Given the description of an element on the screen output the (x, y) to click on. 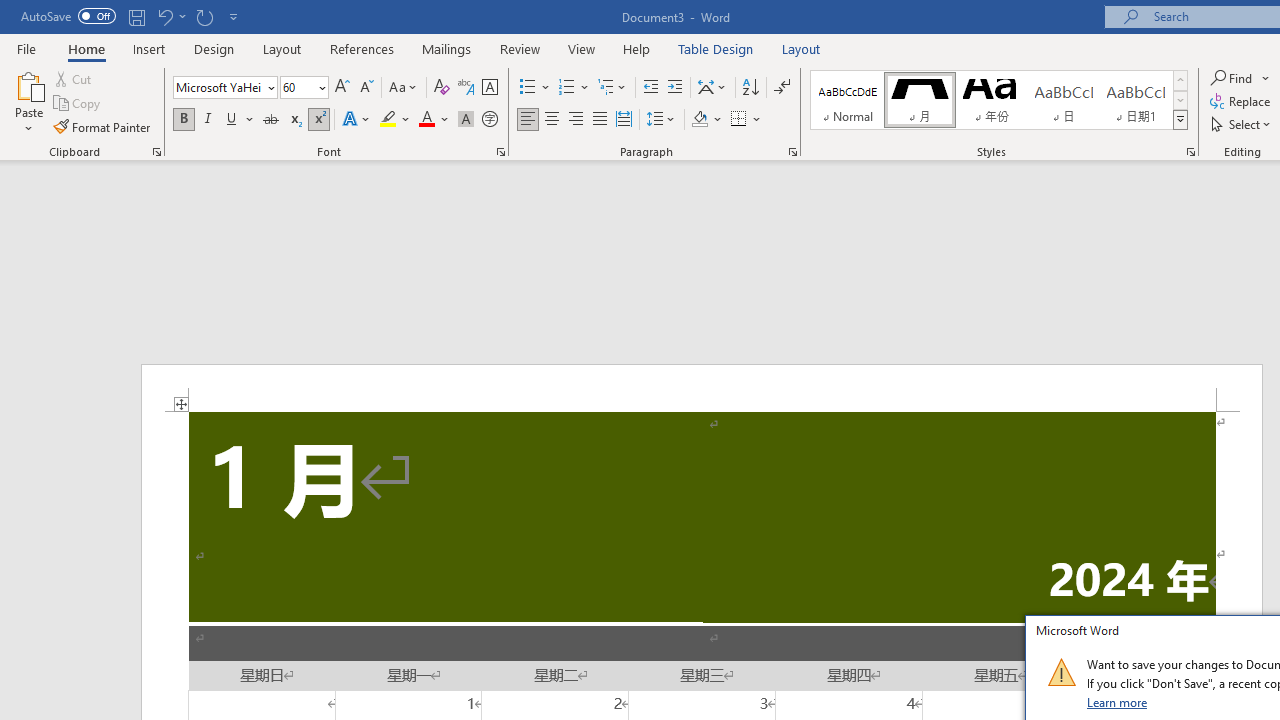
Format Painter (103, 126)
Font Color RGB(255, 0, 0) (426, 119)
Undo Superscript (164, 15)
Enclose Characters... (489, 119)
Office Clipboard... (156, 151)
